Given the description of an element on the screen output the (x, y) to click on. 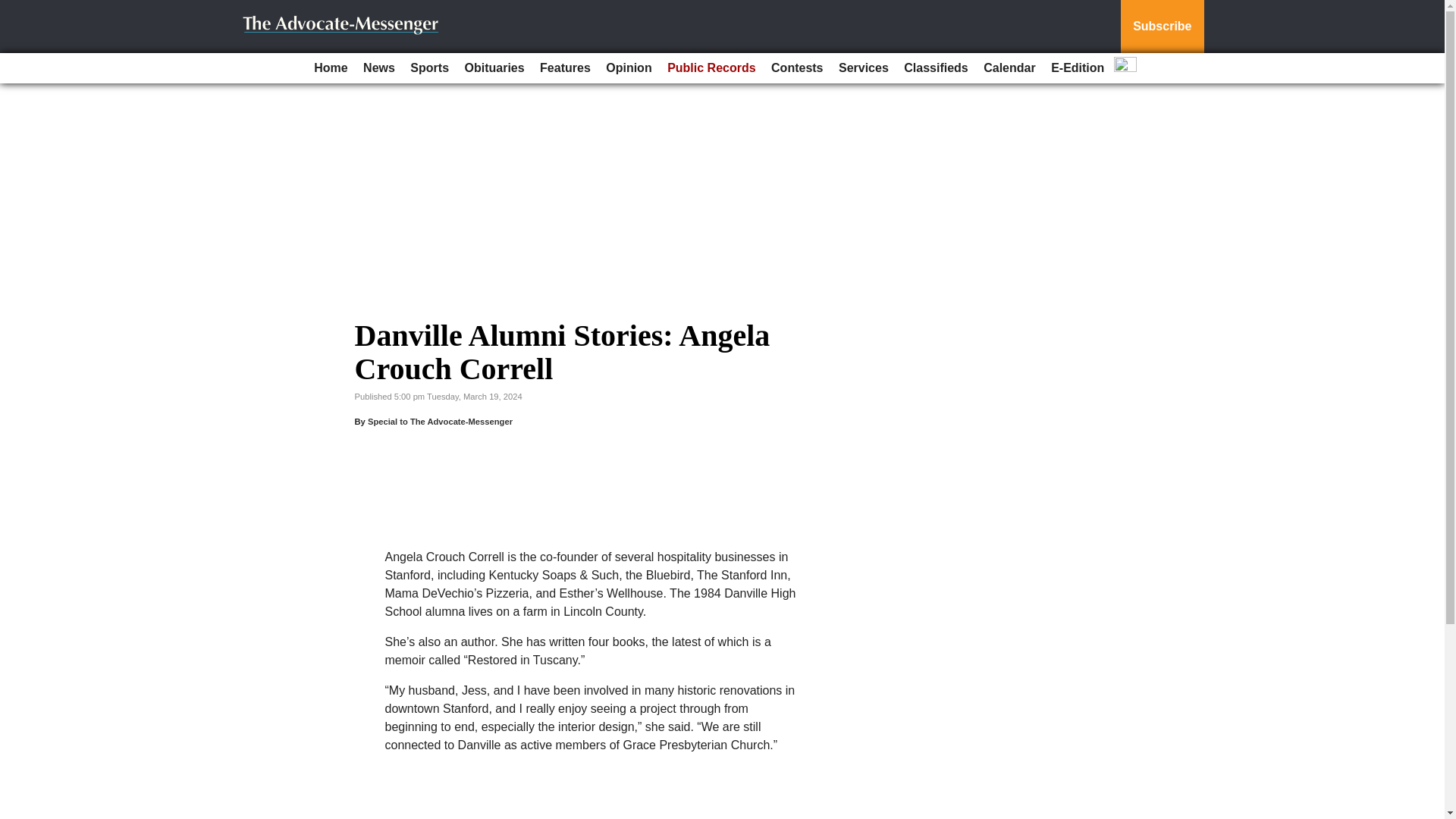
News (378, 68)
Services (863, 68)
Public Records (711, 68)
Calendar (1008, 68)
Subscribe (1162, 26)
Classifieds (936, 68)
Special to The Advocate-Messenger (440, 420)
Opinion (628, 68)
E-Edition (1077, 68)
Sports (429, 68)
